Given the description of an element on the screen output the (x, y) to click on. 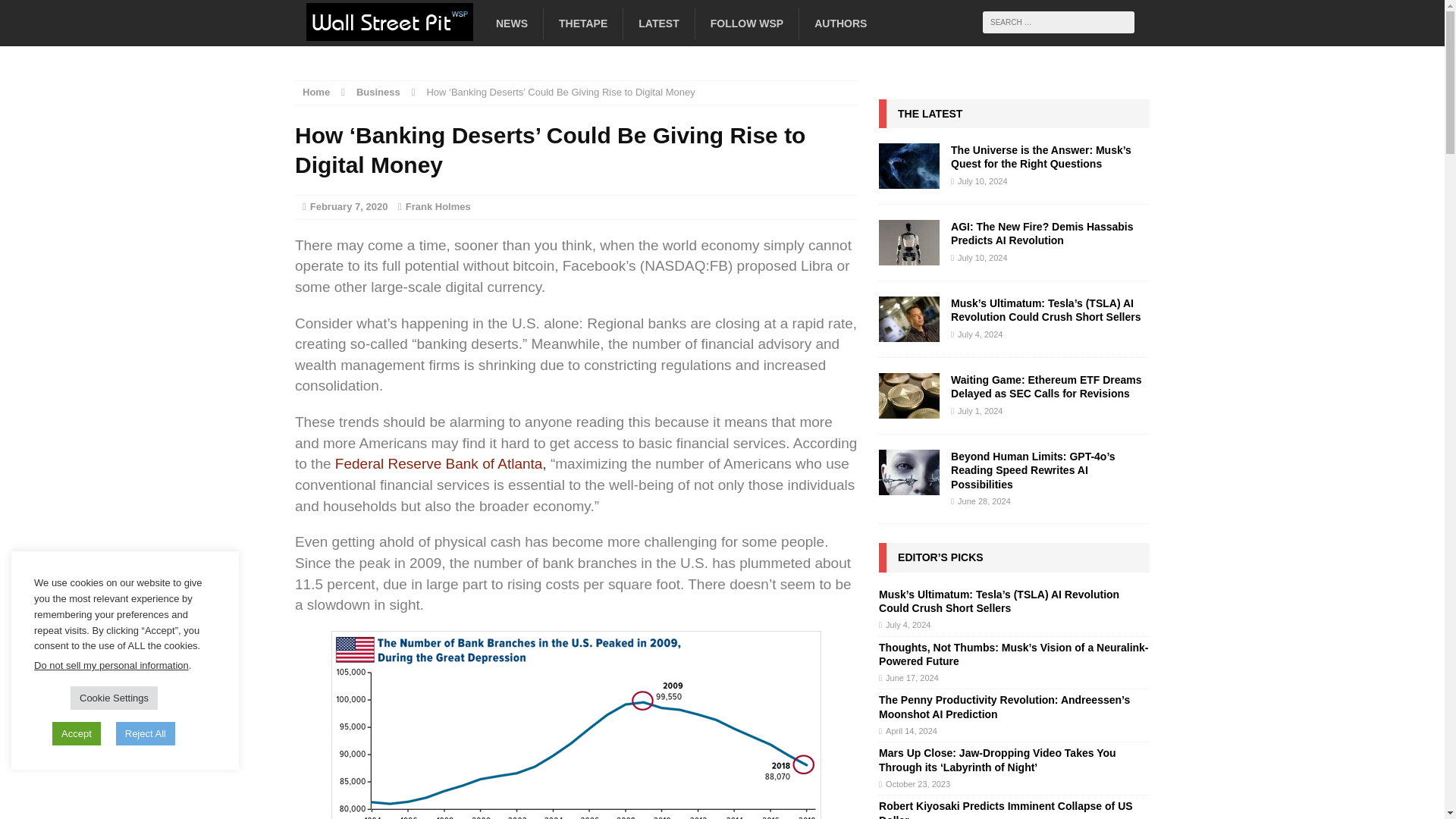
Wall Street Pit (427, 28)
THETAPE (583, 23)
NEWS (511, 23)
LATEST (658, 23)
AGI: The New Fire? Demis Hassabis Predicts AI Revolution (1041, 233)
AGI: The New Fire? Demis Hassabis Predicts AI Revolution (909, 256)
